Given the description of an element on the screen output the (x, y) to click on. 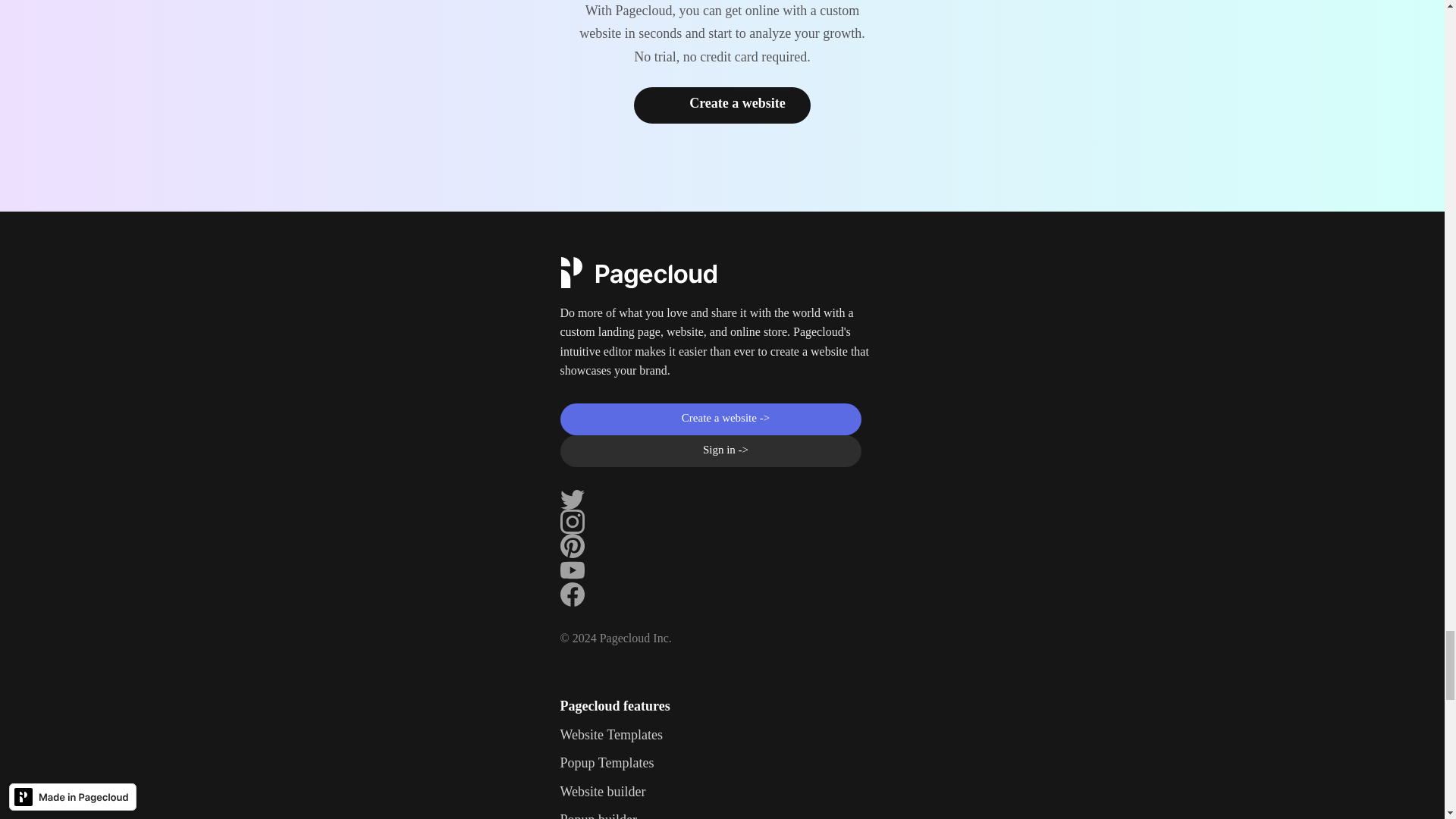
Facebook (571, 594)
Youtube (571, 569)
